Given the description of an element on the screen output the (x, y) to click on. 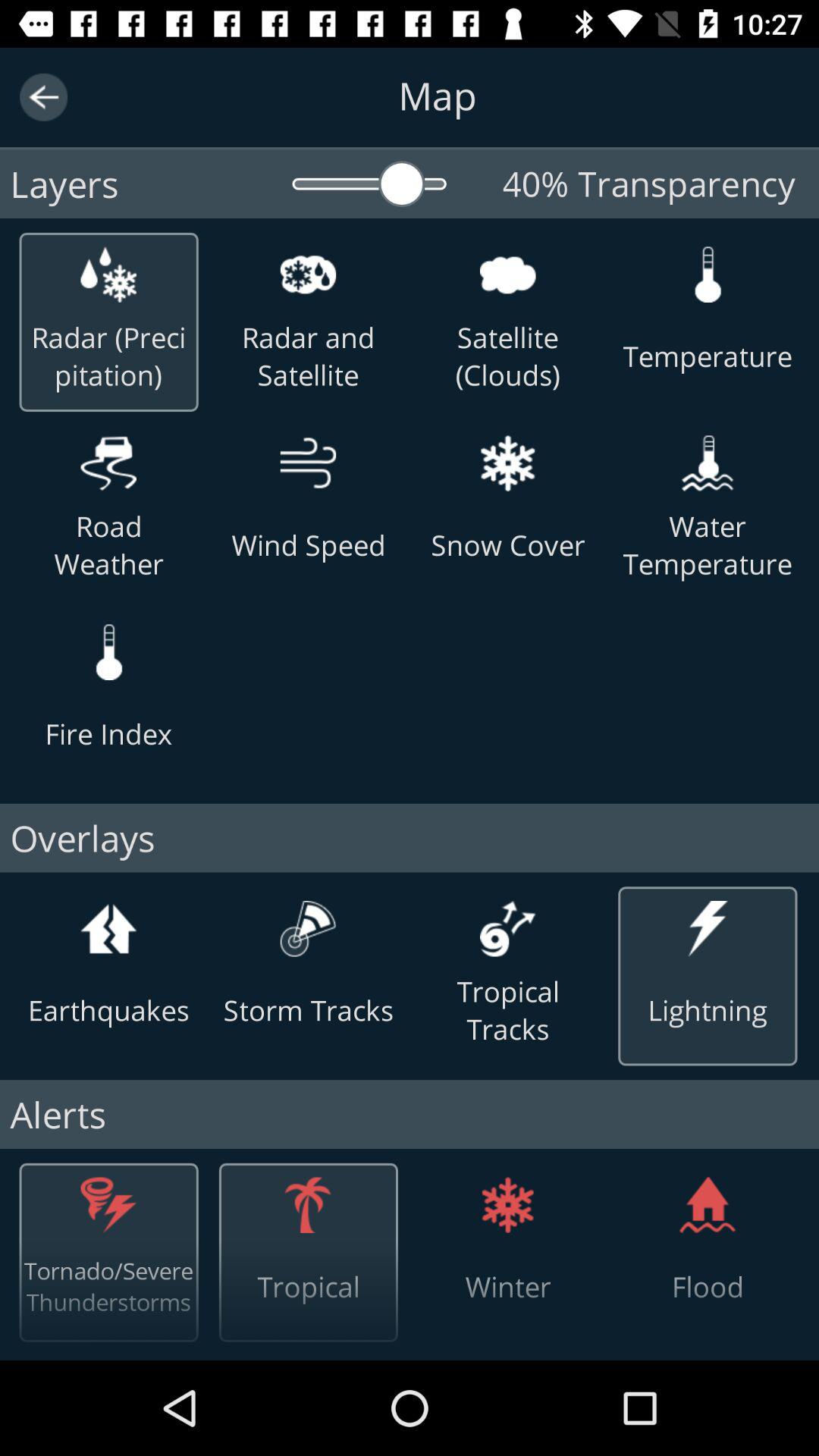
select the icon above road weather text (108, 463)
